Given the description of an element on the screen output the (x, y) to click on. 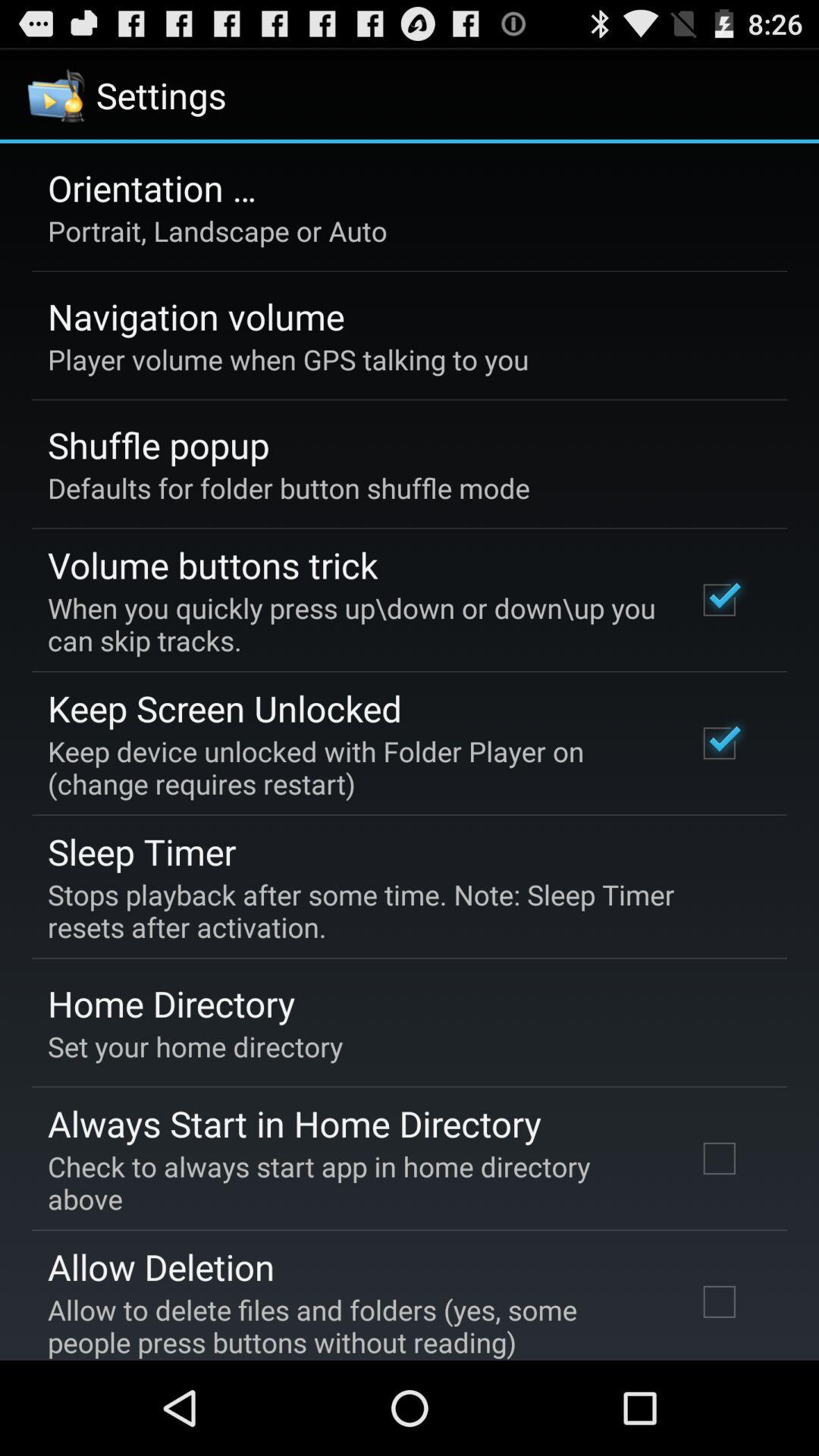
open item below home directory app (194, 1046)
